Given the description of an element on the screen output the (x, y) to click on. 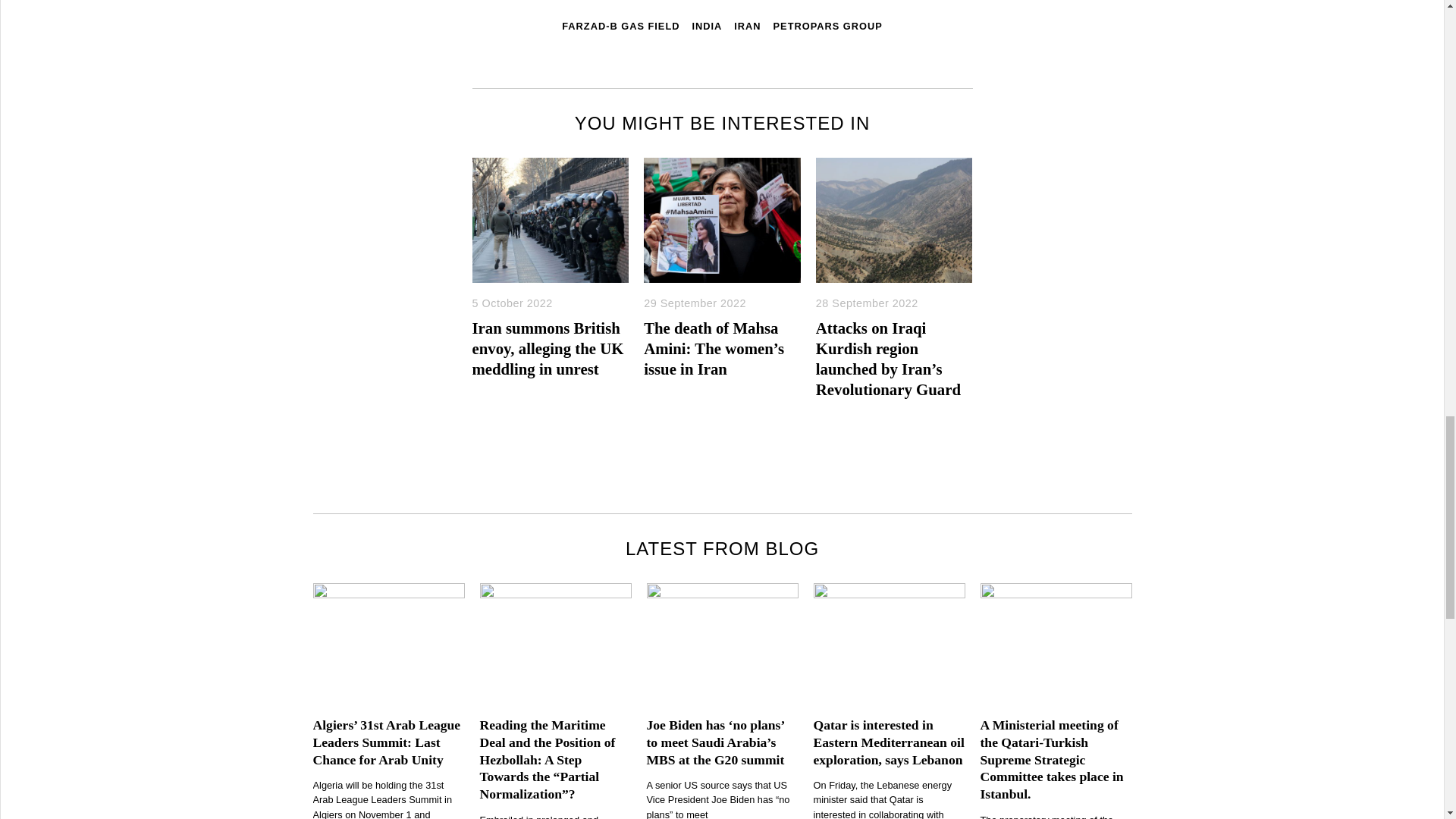
INDIA (706, 25)
PETROPARS GROUP (827, 25)
FARZAD-B GAS FIELD (620, 25)
IRAN (746, 25)
